Given the description of an element on the screen output the (x, y) to click on. 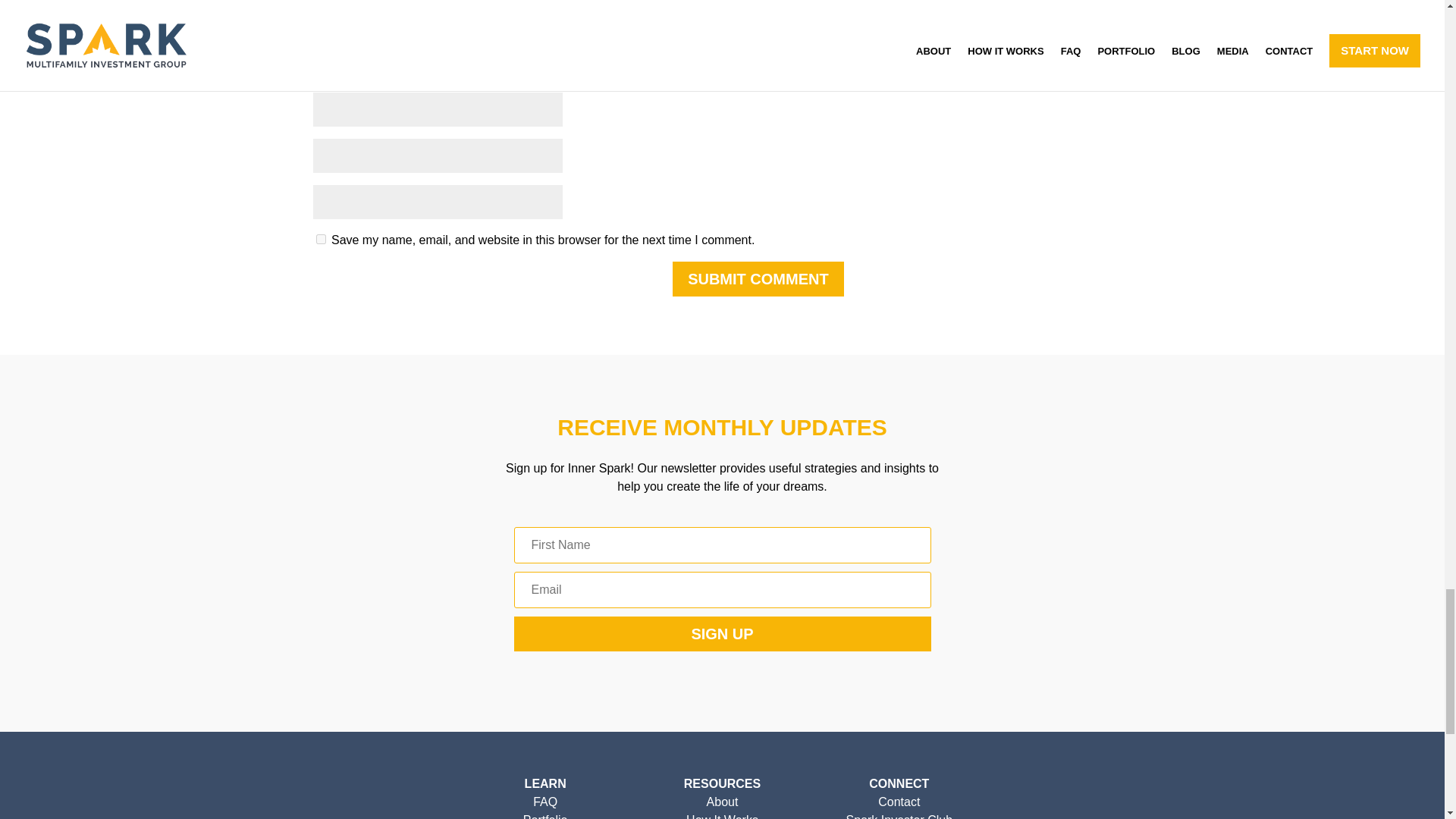
yes (319, 239)
SUBMIT COMMENT (758, 278)
Portfolio (544, 816)
FAQ (544, 801)
SIGN UP (722, 633)
